Given the description of an element on the screen output the (x, y) to click on. 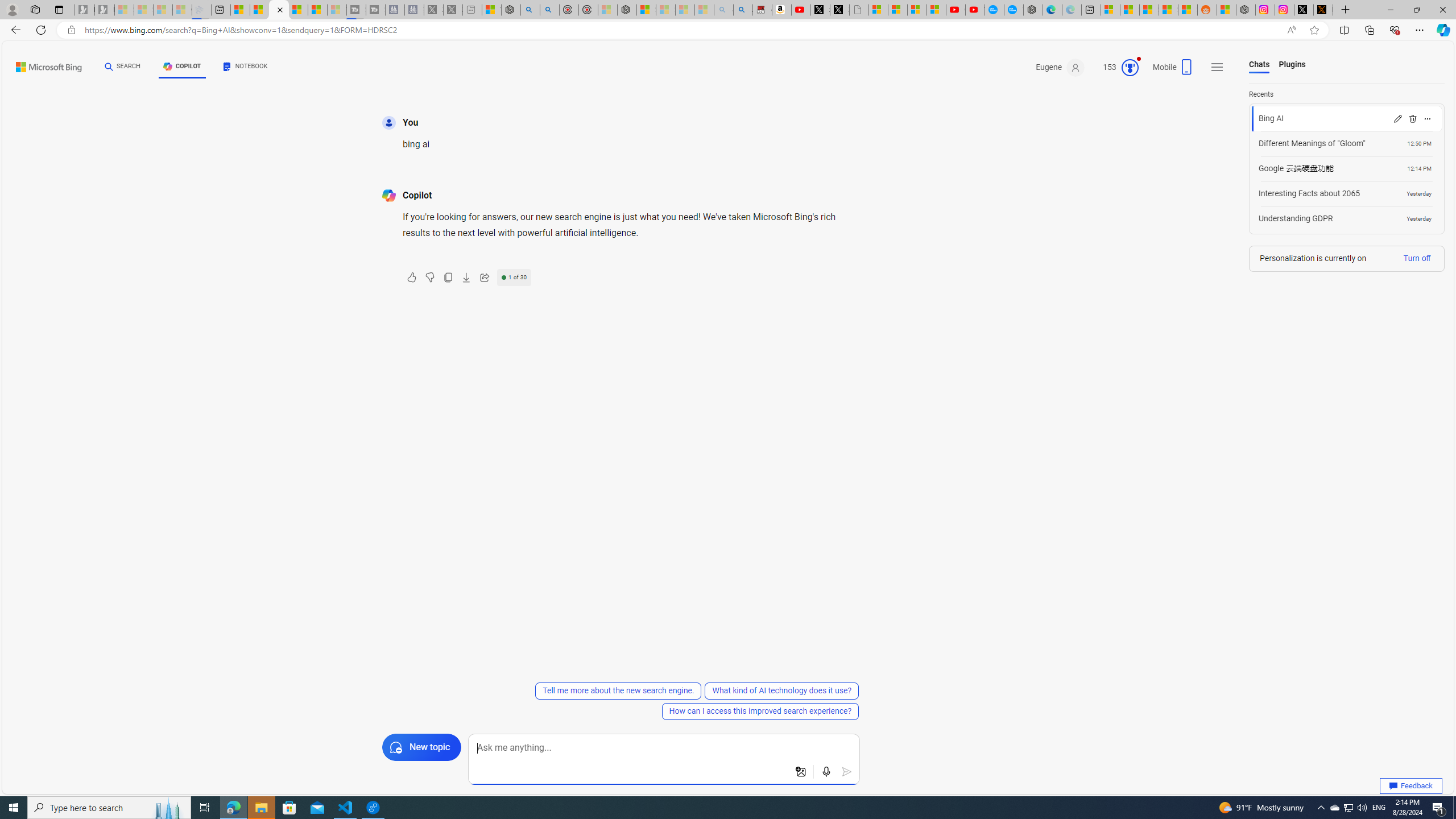
Use microphone (826, 771)
What kind of AI technology does it use? (781, 690)
Log in to X / X (1303, 9)
